Given the description of an element on the screen output the (x, y) to click on. 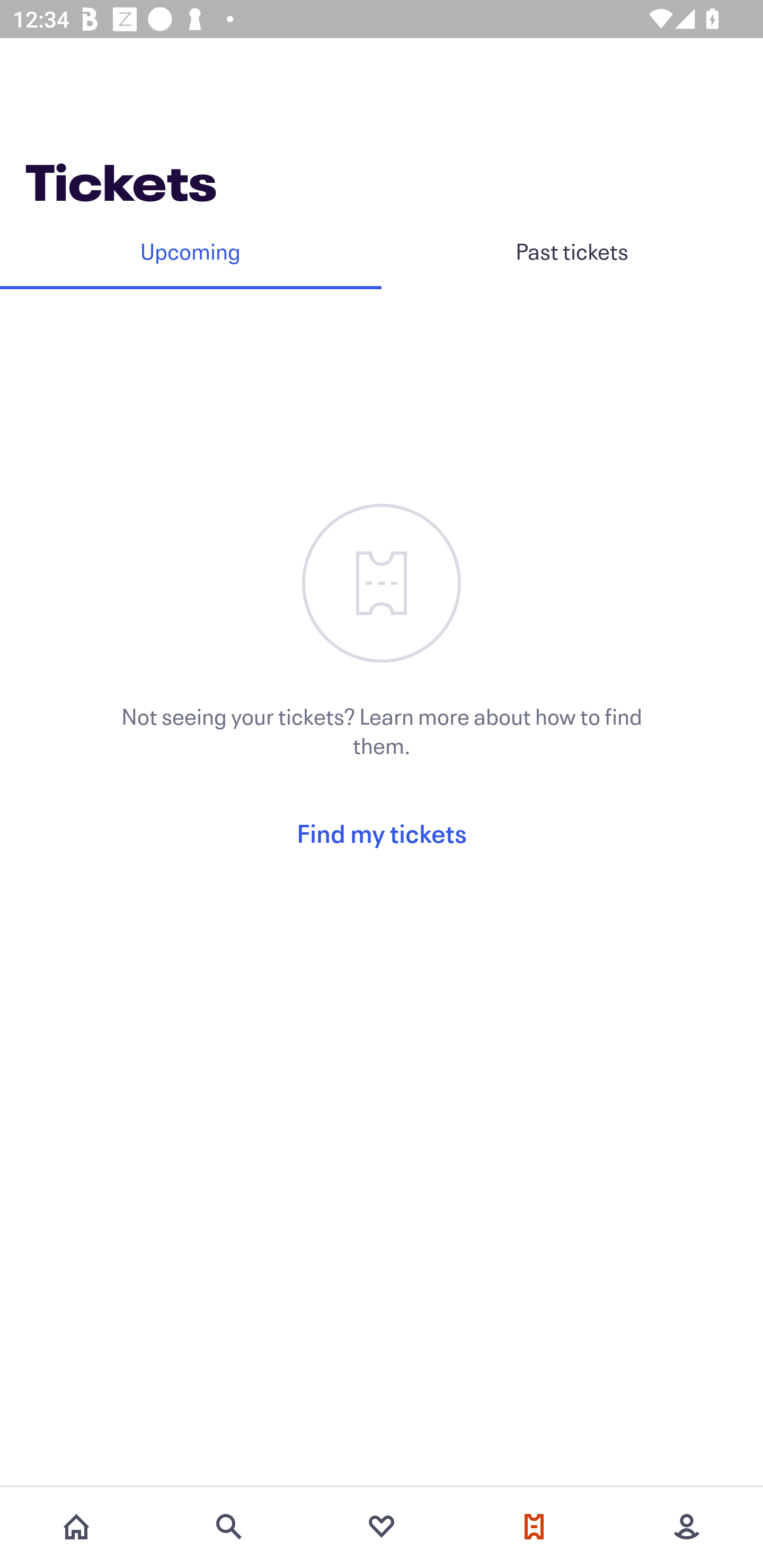
Past tickets (572, 250)
Find my tickets (381, 833)
Home (76, 1526)
Search events (228, 1526)
Favorites (381, 1526)
Tickets (533, 1526)
More (686, 1526)
